Given the description of an element on the screen output the (x, y) to click on. 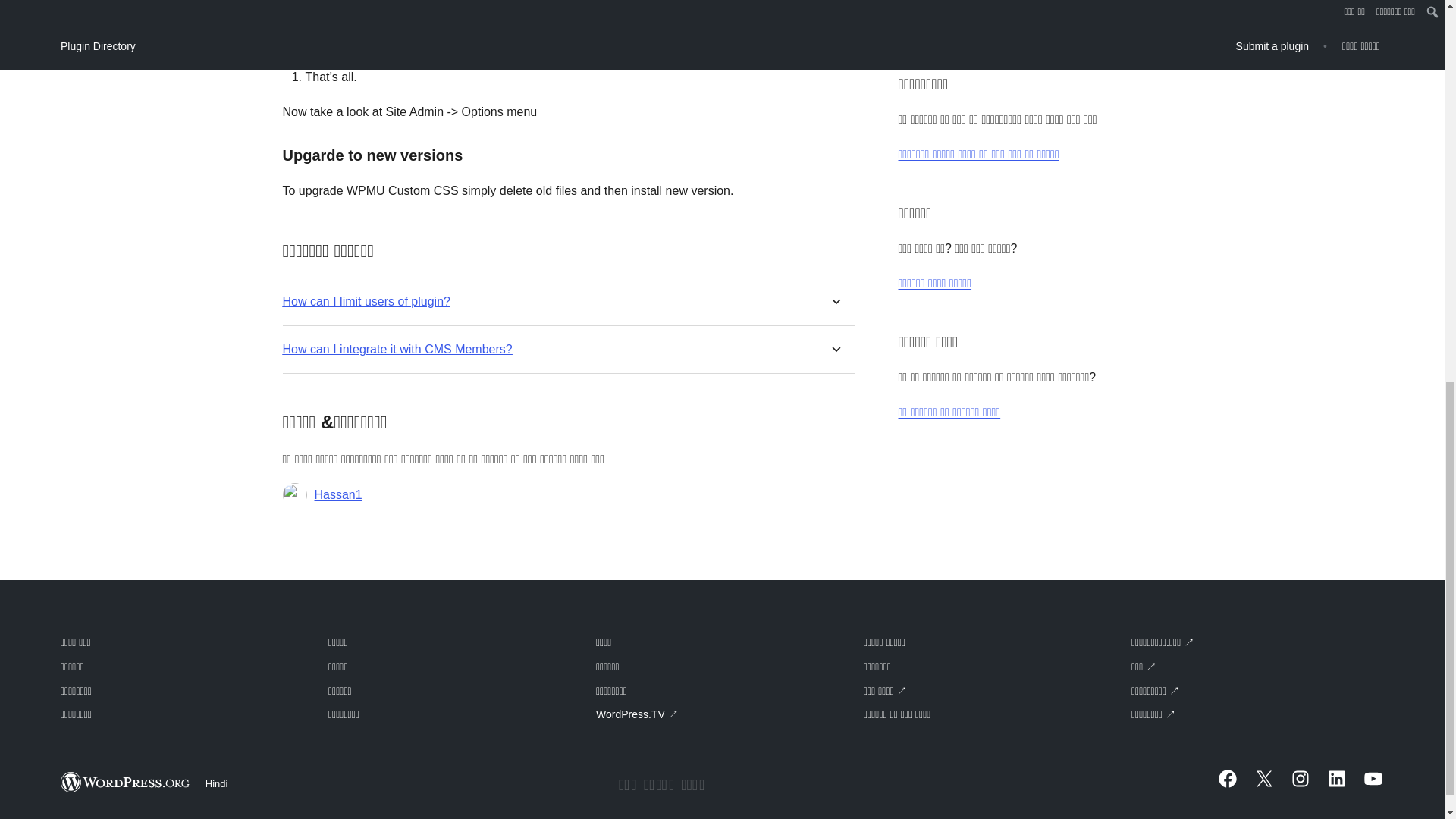
How can I limit users of plugin? (365, 301)
How can I integrate it with CMS Members? (397, 349)
Hassan1 (337, 495)
WordPress.org (125, 782)
